Given the description of an element on the screen output the (x, y) to click on. 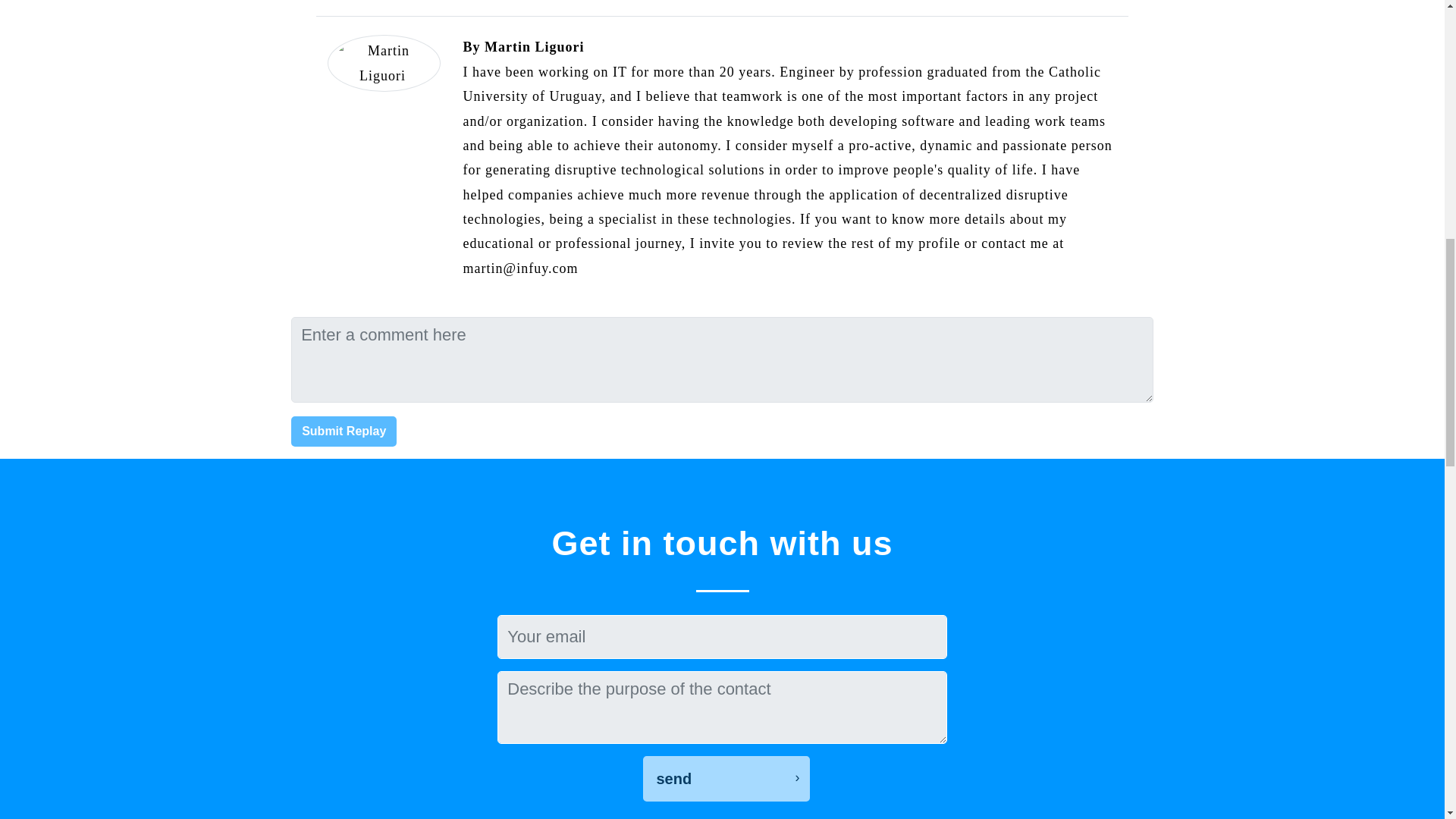
Submit Replay (343, 431)
Submit Replay (343, 431)
send (726, 778)
